Given the description of an element on the screen output the (x, y) to click on. 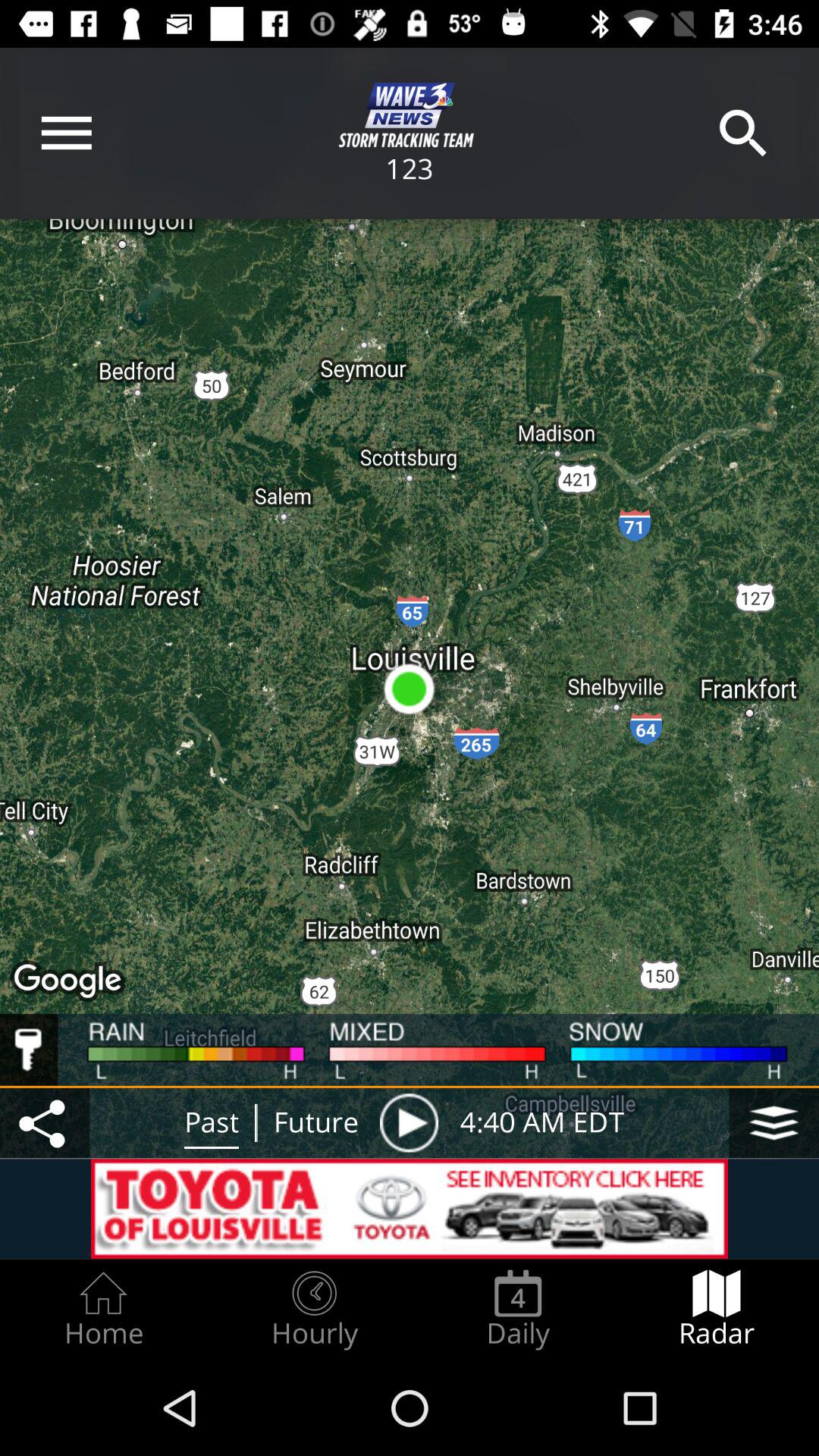
scroll until radar radio button (716, 1309)
